Given the description of an element on the screen output the (x, y) to click on. 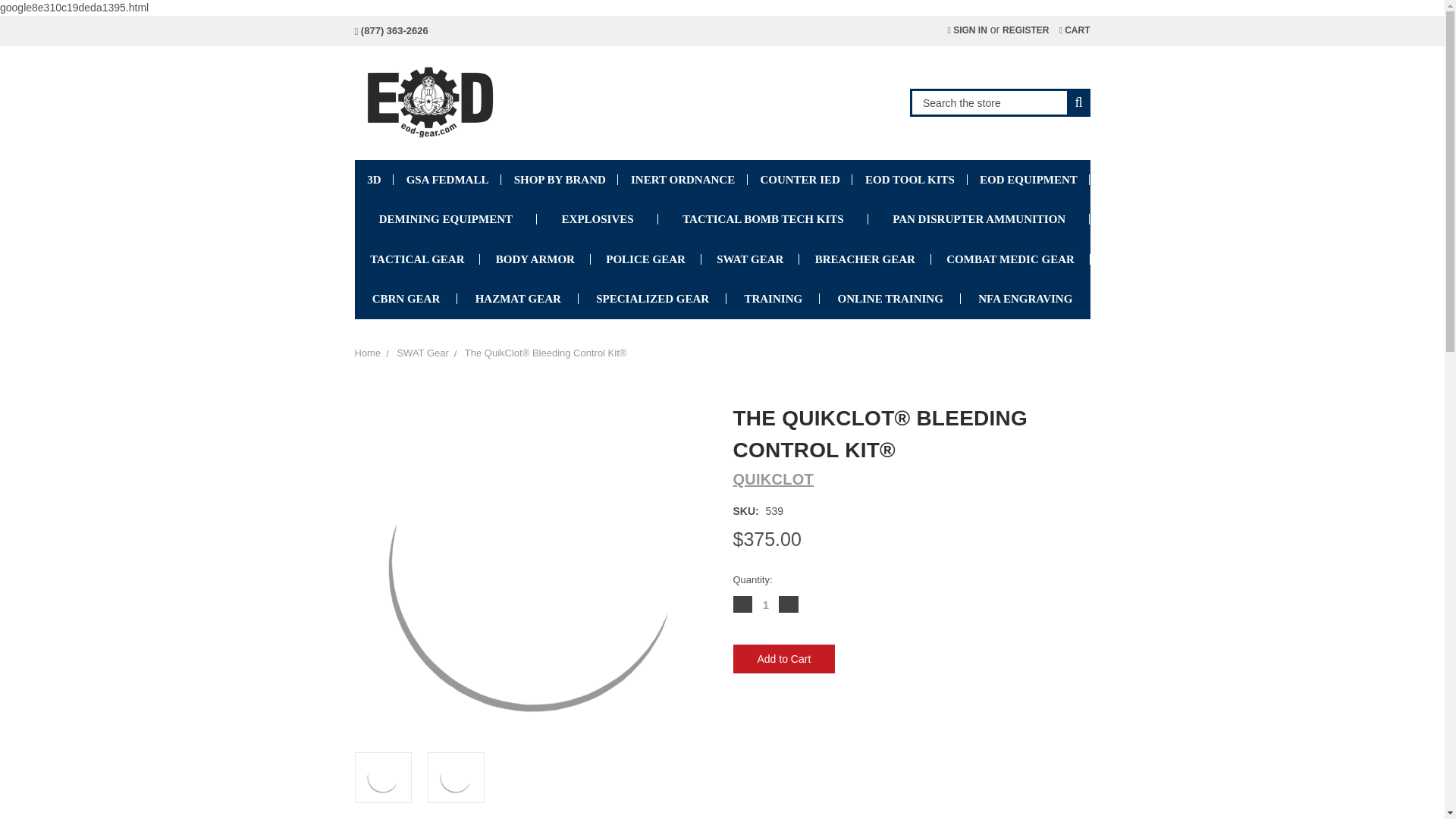
The QuikClot Bleeding Control Kit (455, 777)
CART (1074, 30)
COUNTER IED (800, 178)
GSA FEDMALL (446, 178)
SIGN IN (966, 30)
EOD TOOL KITS (908, 178)
REGISTER (1025, 30)
1 (765, 604)
INERT ORDNANCE (681, 178)
Add to Cart (783, 658)
